Given the description of an element on the screen output the (x, y) to click on. 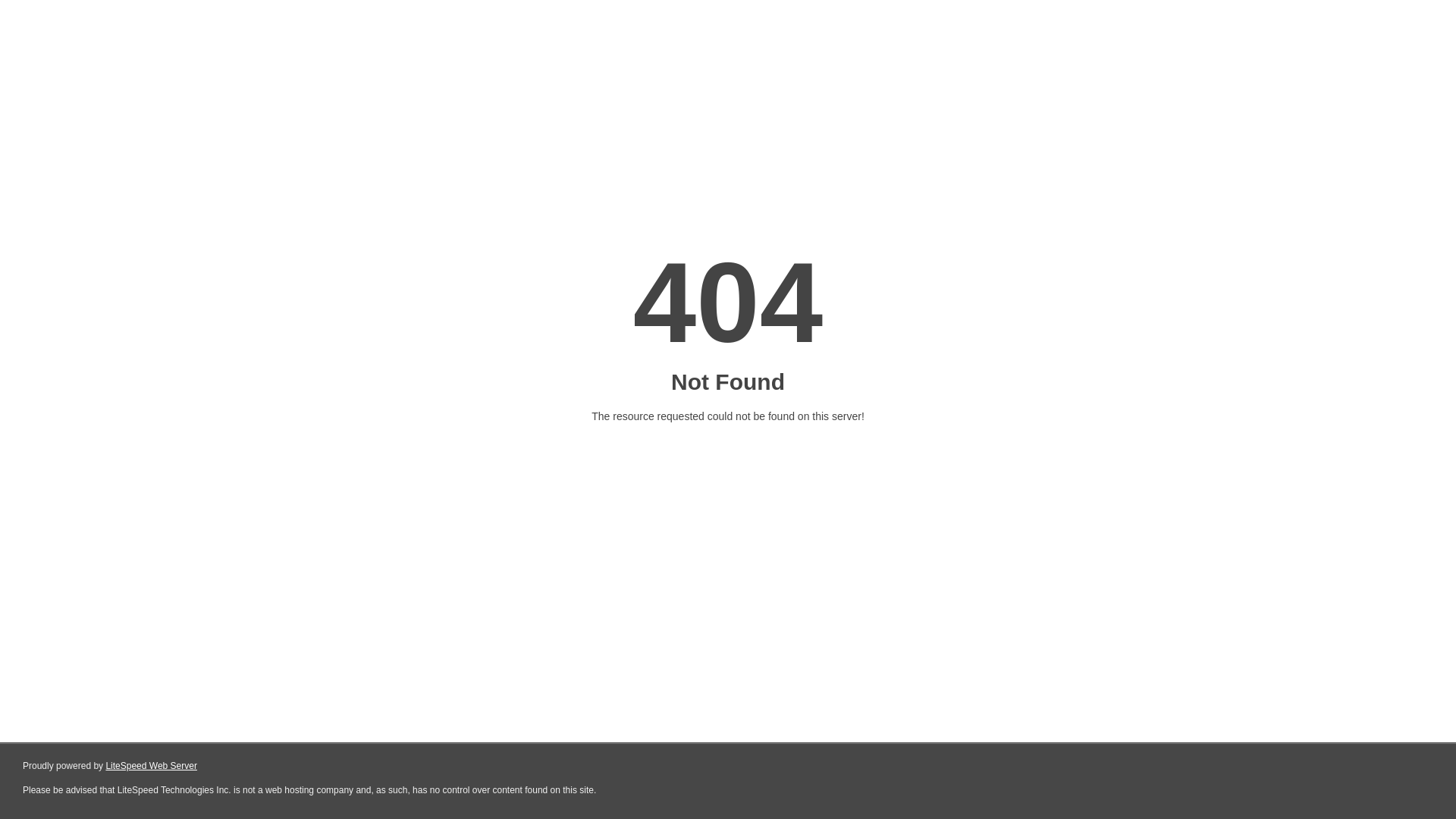
LiteSpeed Web Server Element type: text (151, 765)
